Given the description of an element on the screen output the (x, y) to click on. 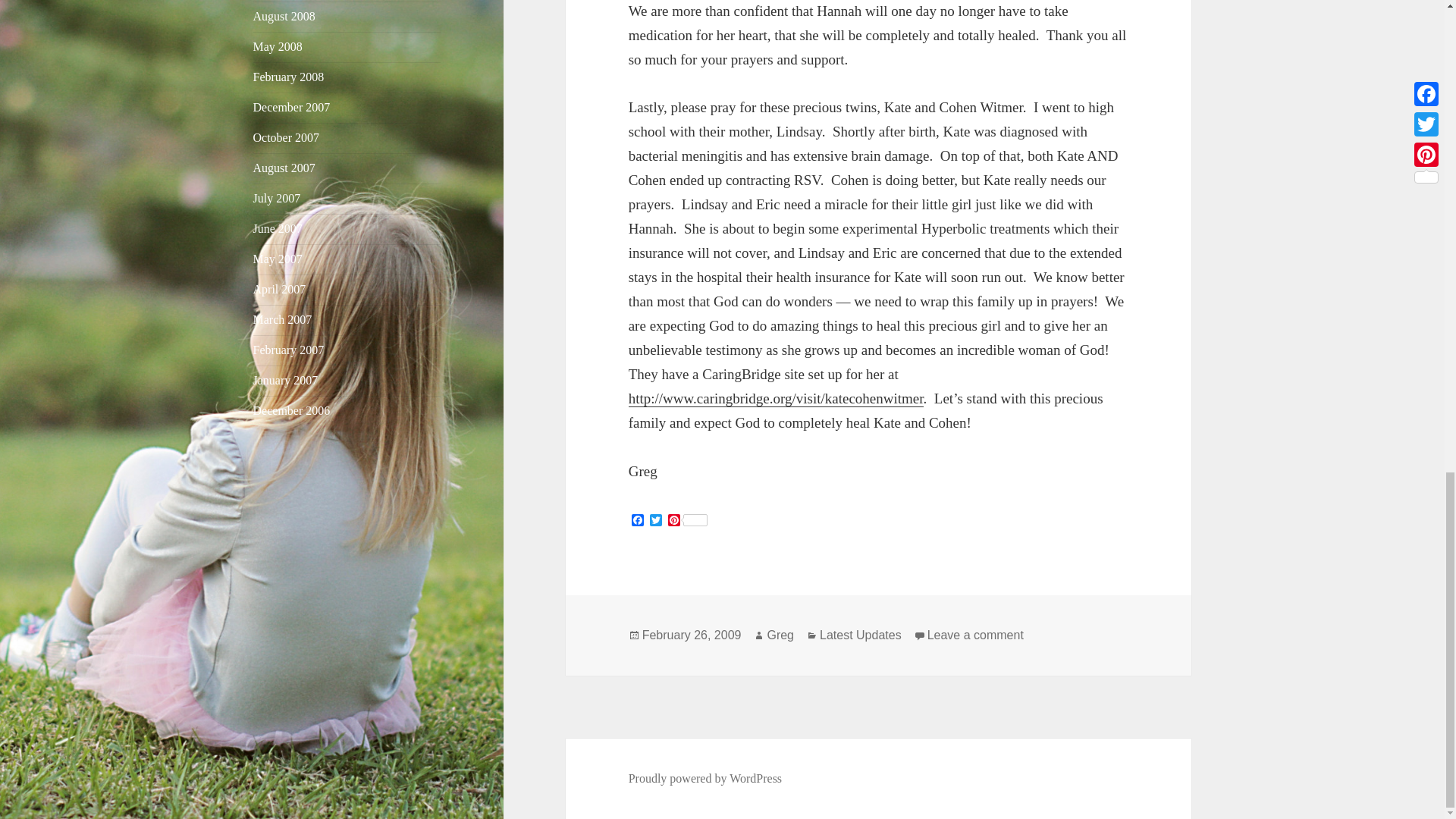
February 2008 (288, 76)
December 2007 (291, 106)
Twitter (655, 521)
Facebook (637, 521)
August 2007 (284, 167)
Twitter (655, 521)
December 2006 (291, 410)
January 2007 (285, 379)
June 2007 (277, 228)
Facebook (637, 521)
Pinterest (687, 521)
August 2008 (284, 15)
Pinterest (687, 521)
March 2007 (283, 318)
May 2008 (277, 46)
